Given the description of an element on the screen output the (x, y) to click on. 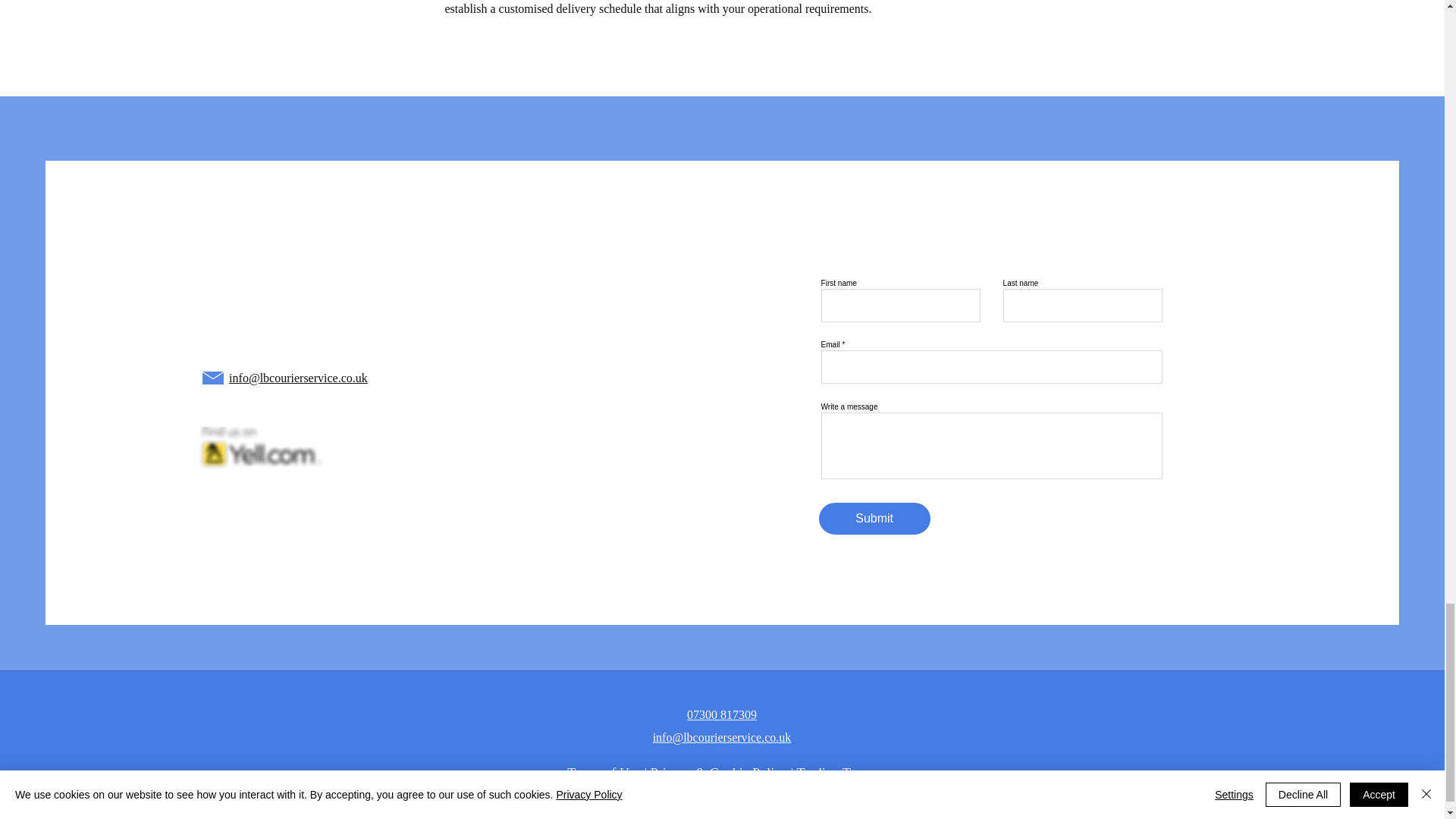
Terms of Use (603, 773)
07300 817309 (722, 713)
Submit (874, 518)
Trading Terms (836, 773)
lbcourierservice.co.uk (314, 377)
